Given the description of an element on the screen output the (x, y) to click on. 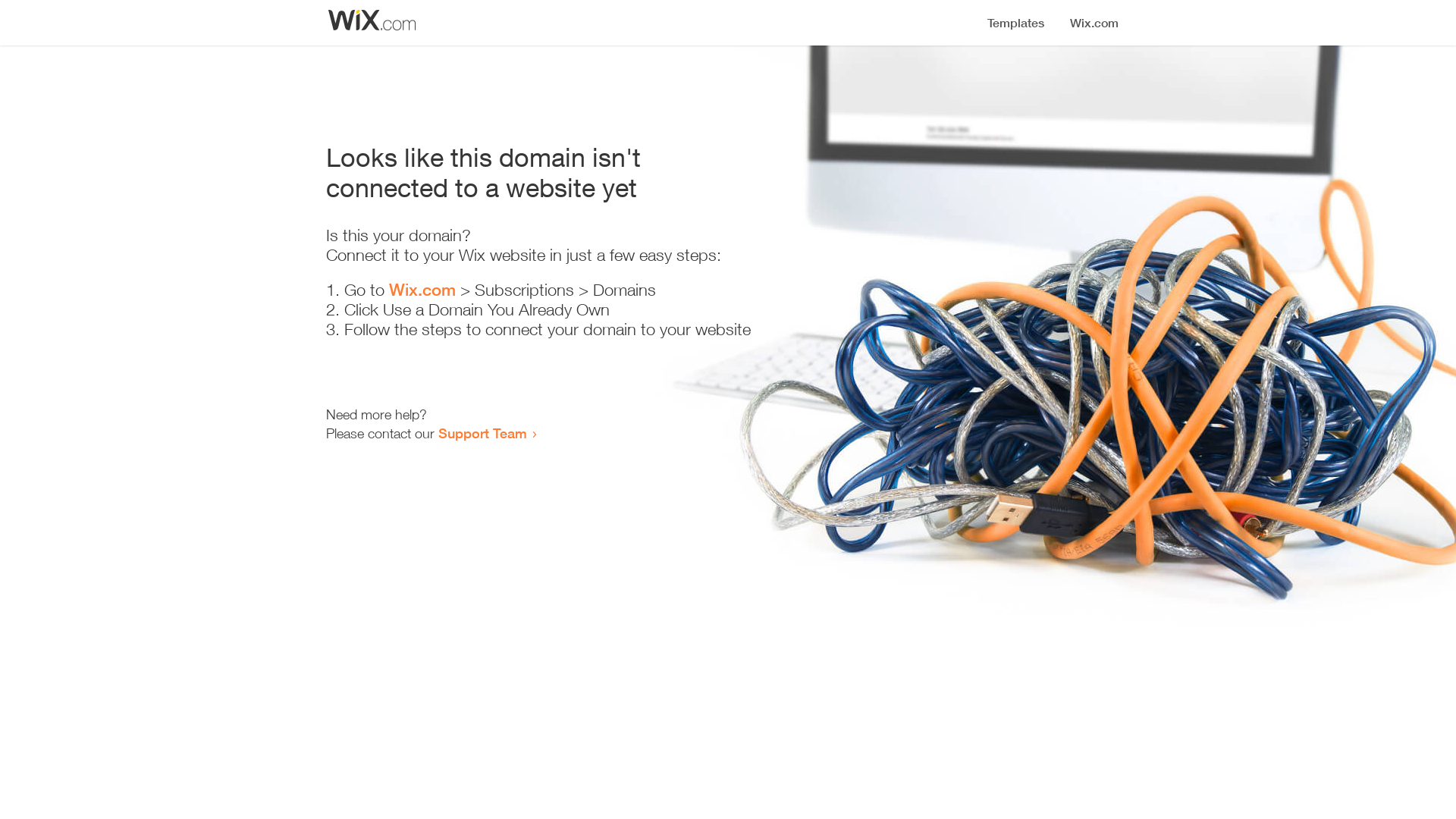
Wix.com Element type: text (422, 289)
Support Team Element type: text (482, 432)
